Given the description of an element on the screen output the (x, y) to click on. 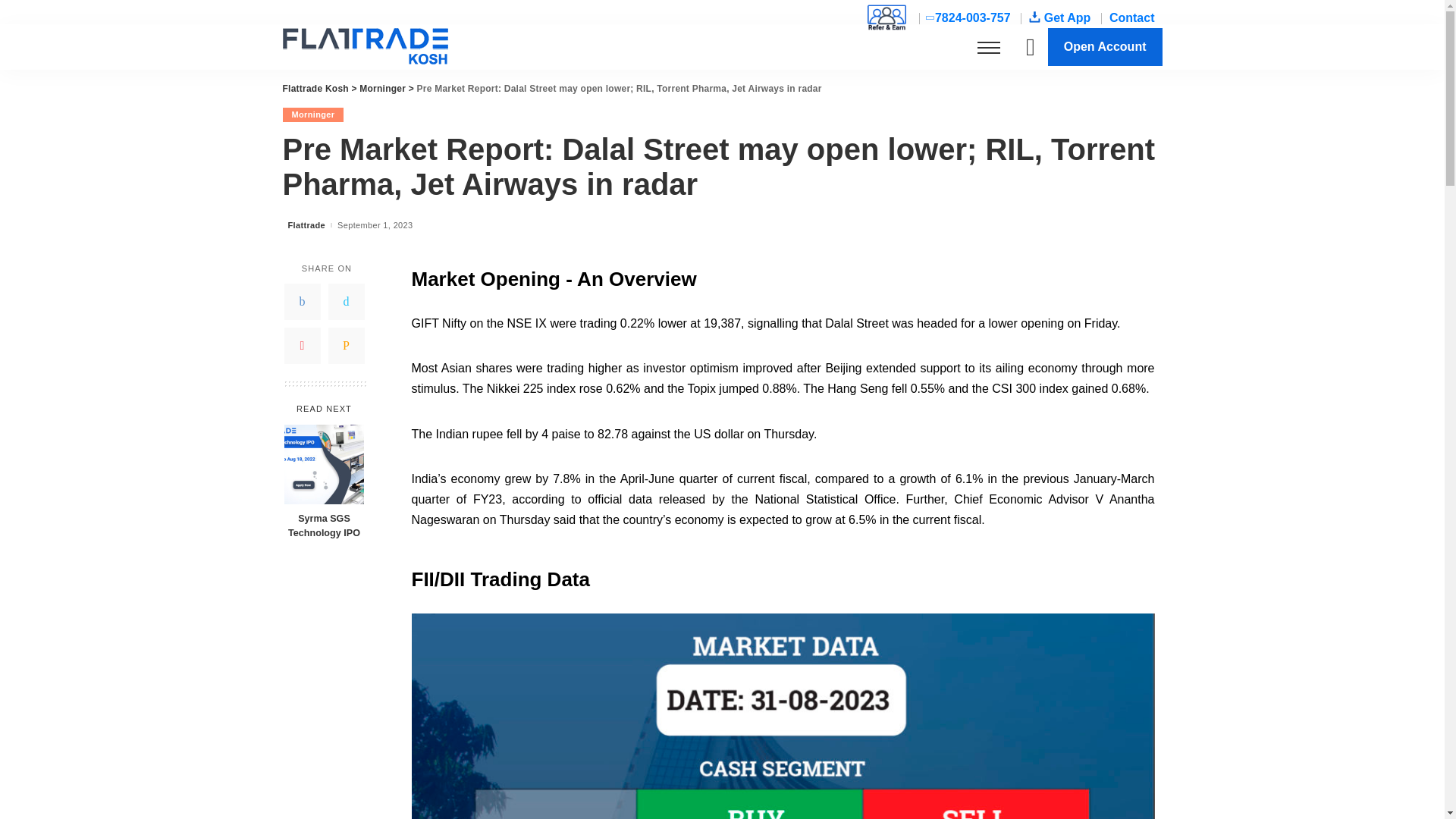
Flattrade Kosh (364, 46)
Facebook (301, 301)
Email (345, 345)
Search (1140, 30)
Go to Flattrade Kosh. (314, 88)
Open Account (1104, 46)
Flattrade Kosh (314, 88)
Search (1140, 100)
Get App (1059, 17)
Pinterest (301, 345)
Morninger (312, 114)
Syrma SGS Technology IPO (323, 525)
7824-003-757 (968, 17)
Morninger (382, 88)
Go to the Morninger Category archives. (382, 88)
